Given the description of an element on the screen output the (x, y) to click on. 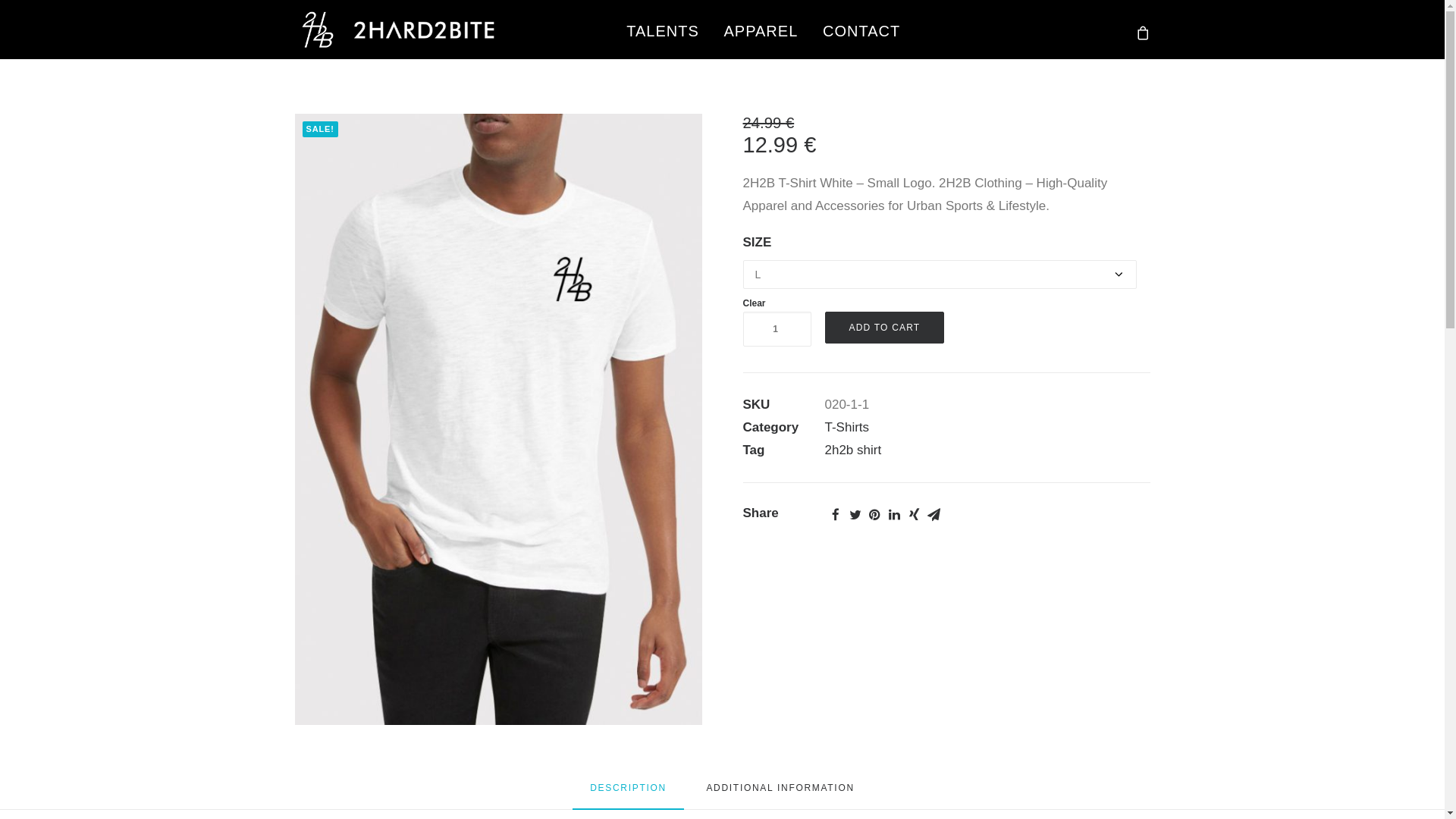
APPAREL Element type: text (760, 29)
ADDITIONAL INFORMATION Element type: text (779, 793)
TALENTS Element type: text (662, 29)
DESCRIPTION Element type: text (628, 794)
CONTACT Element type: text (861, 29)
T-Shirts Element type: text (847, 427)
ADD TO CART Element type: text (884, 327)
2h2b shirt Element type: text (853, 449)
2h2hb-tshort-white Element type: hover (497, 418)
Clear Element type: text (754, 303)
cart Element type: hover (1141, 29)
Qty Element type: hover (777, 328)
